Given the description of an element on the screen output the (x, y) to click on. 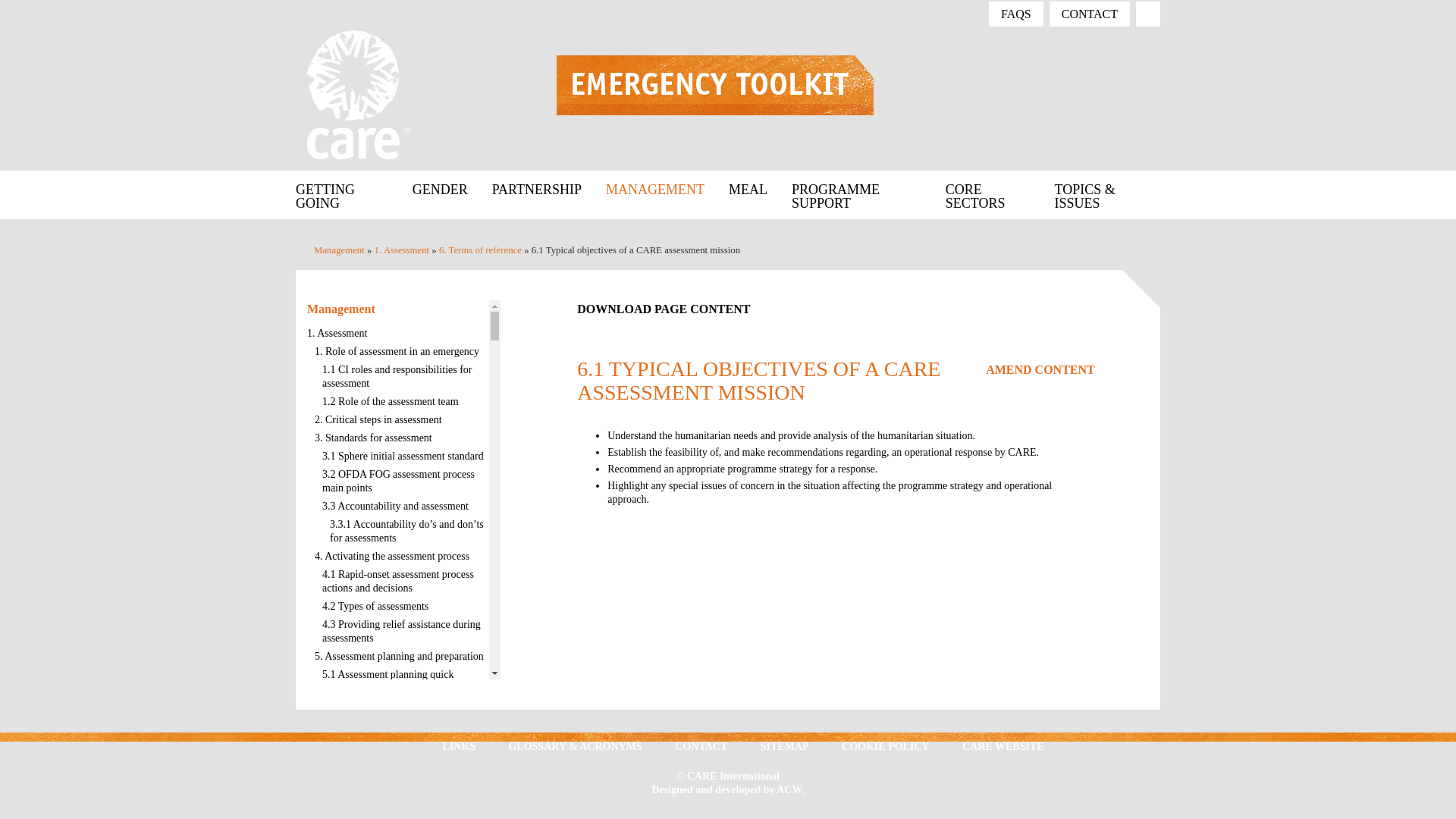
CONTACT (1089, 13)
GETTING GOING (347, 194)
FAQS (1015, 13)
GENDER (440, 187)
